Given the description of an element on the screen output the (x, y) to click on. 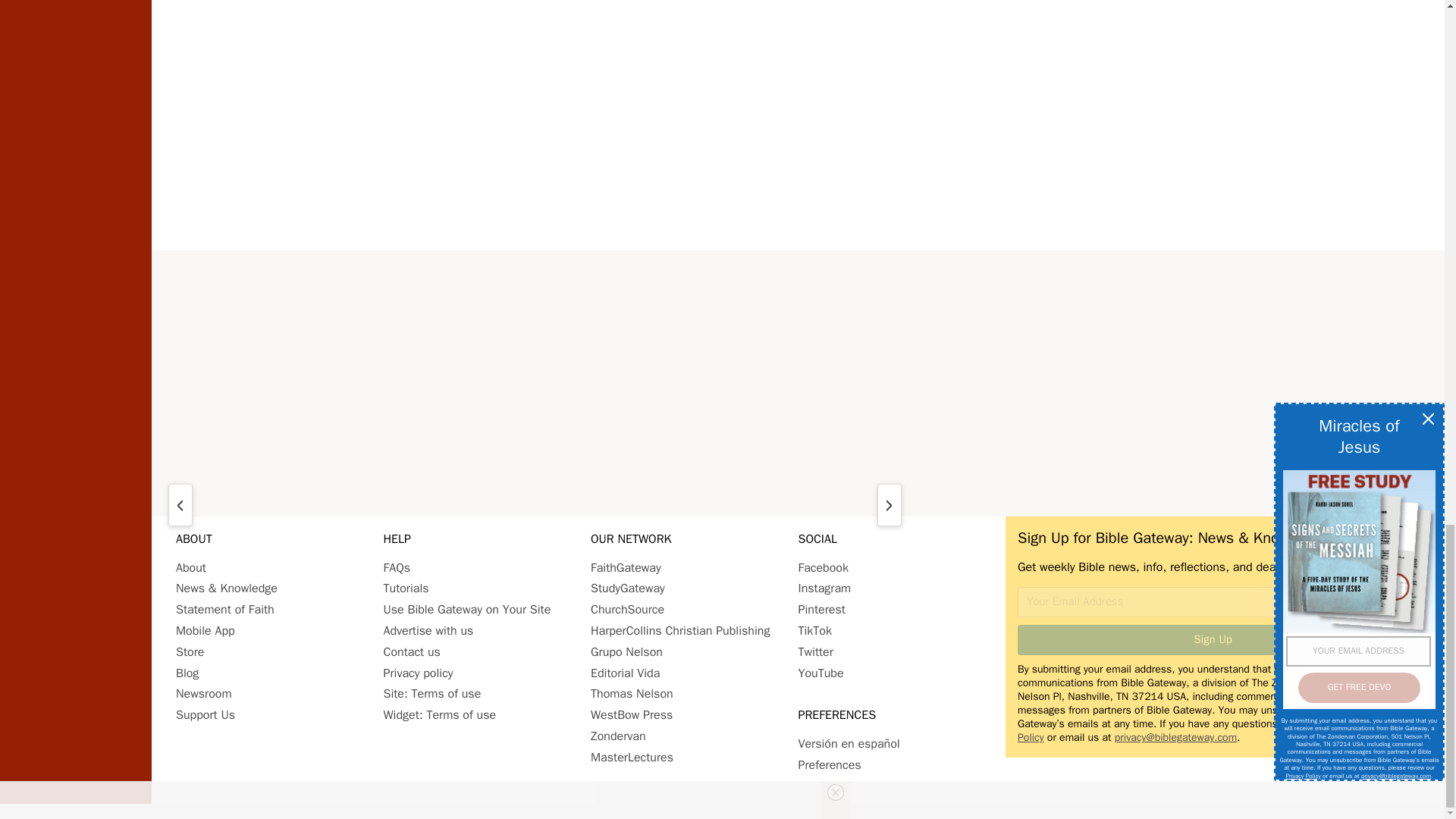
3rd party ad content (797, 124)
Site: Terms of use (432, 693)
Sign Up (1212, 639)
Widget: Terms of use (440, 714)
3rd party ad content (797, 375)
Set your preferences for BibleGateway.com (828, 765)
